Given the description of an element on the screen output the (x, y) to click on. 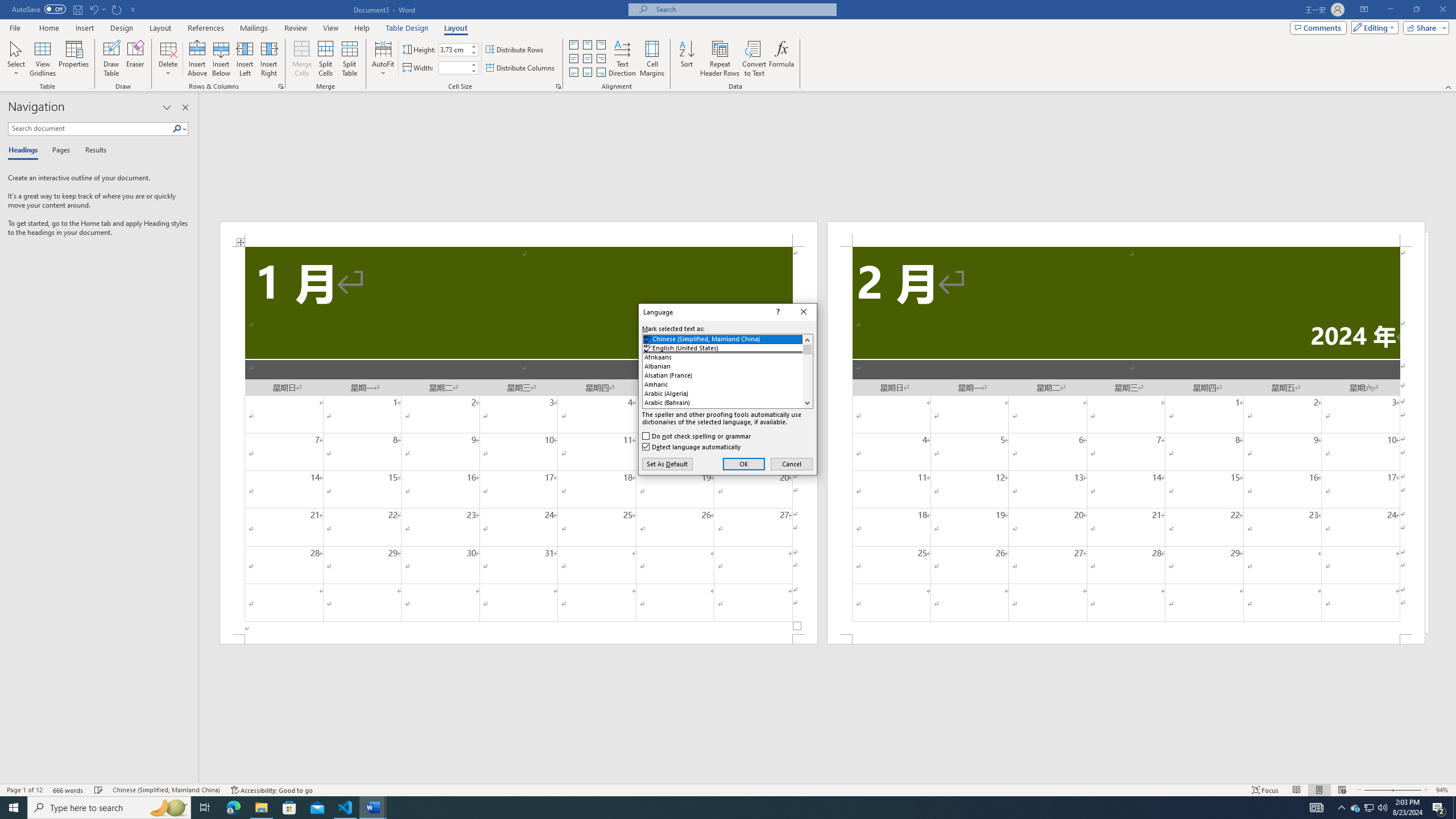
Page Number Page 1 of 12 (24, 790)
Cell Margins... (652, 58)
AutoFit (383, 58)
Undo Increase Indent (92, 9)
Zoom In (1407, 790)
Task View (204, 807)
Delete (167, 58)
Save (77, 9)
English (United States) (727, 347)
File Tab (15, 27)
Align Top Right (601, 44)
Insert Above (196, 58)
